Given the description of an element on the screen output the (x, y) to click on. 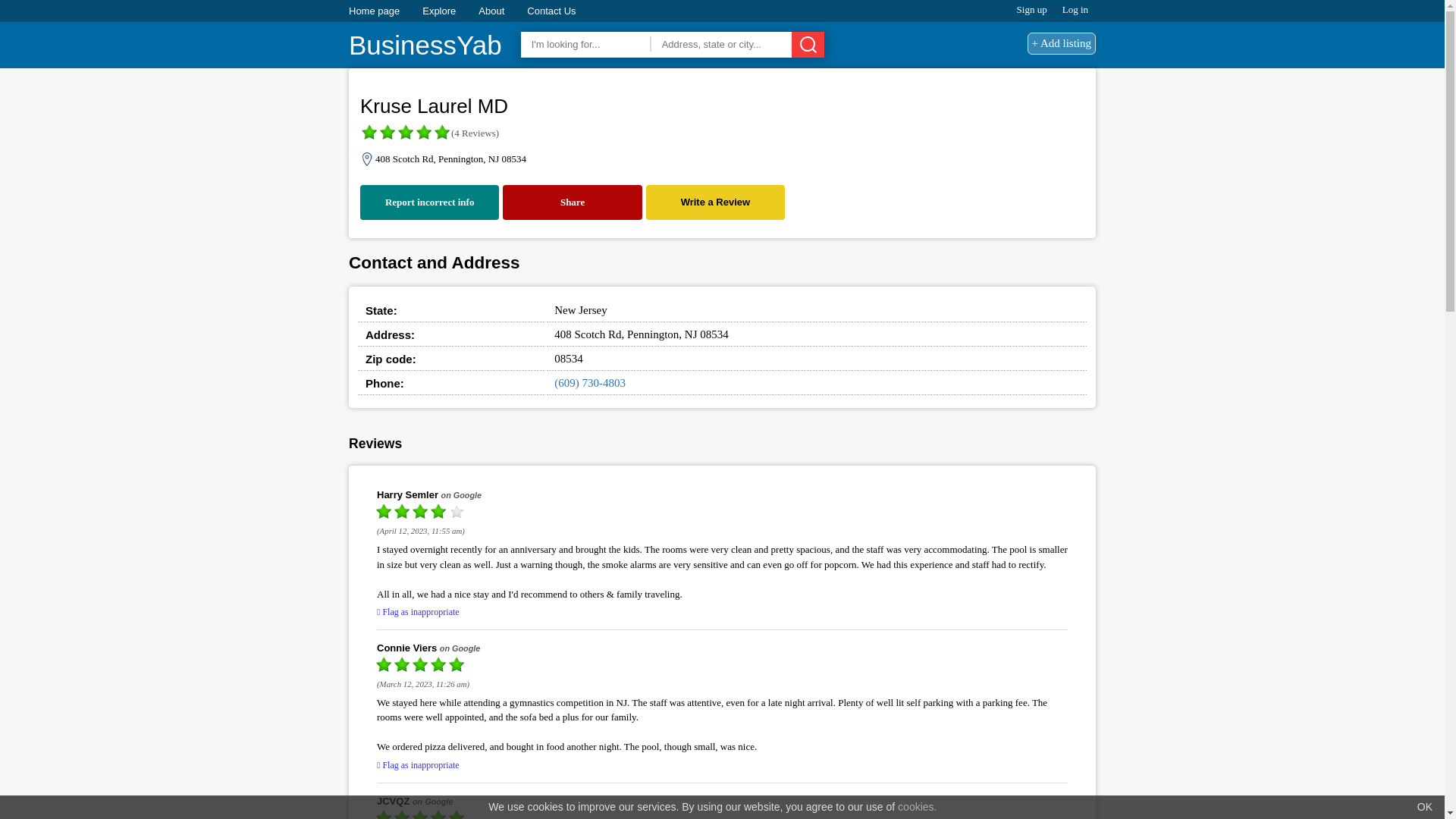
BusinessYab (425, 46)
Report incorrect info (429, 202)
Explore (438, 10)
Home page (373, 10)
About (491, 10)
Contact Us (551, 10)
